Given the description of an element on the screen output the (x, y) to click on. 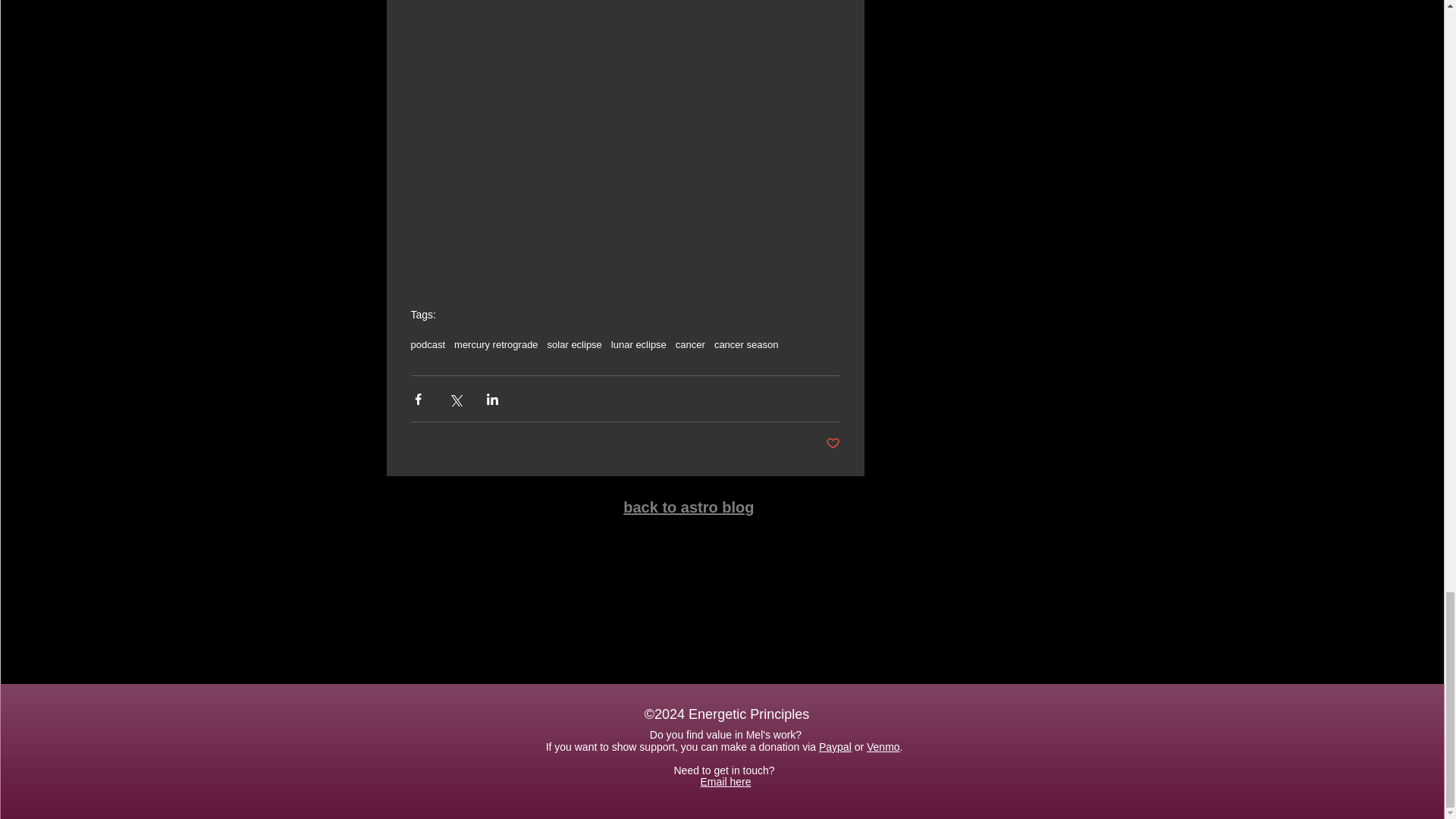
cancer (689, 344)
cancer season (746, 344)
podcast (427, 344)
Paypal (834, 746)
solar eclipse (574, 344)
lunar eclipse (638, 344)
mercury retrograde (496, 344)
Post not marked as liked (832, 443)
back to astro blog (688, 506)
